Given the description of an element on the screen output the (x, y) to click on. 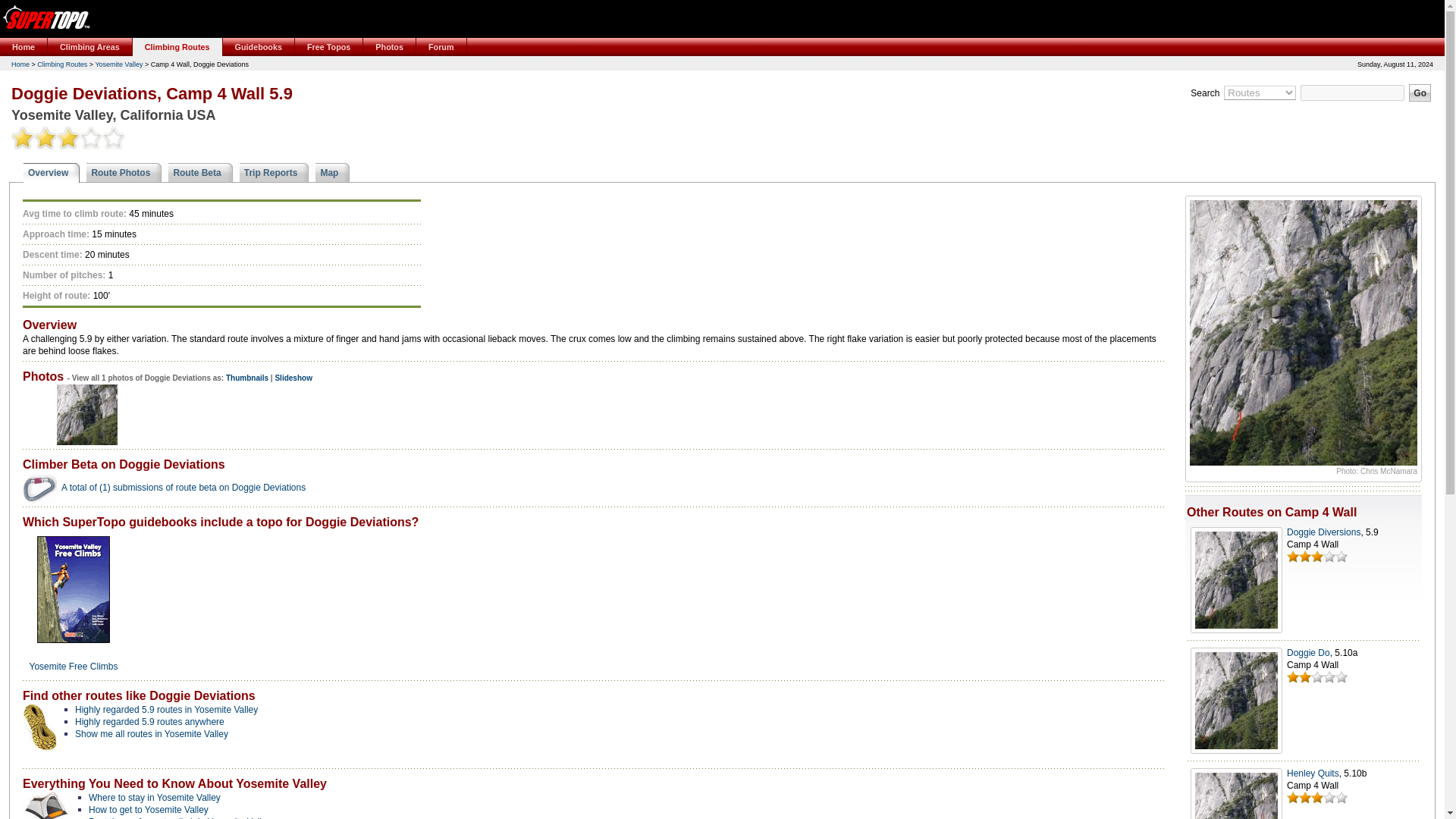
Climbing Areas (90, 46)
Home (24, 46)
Guidebooks (258, 46)
Climbing Routes (177, 46)
